Given the description of an element on the screen output the (x, y) to click on. 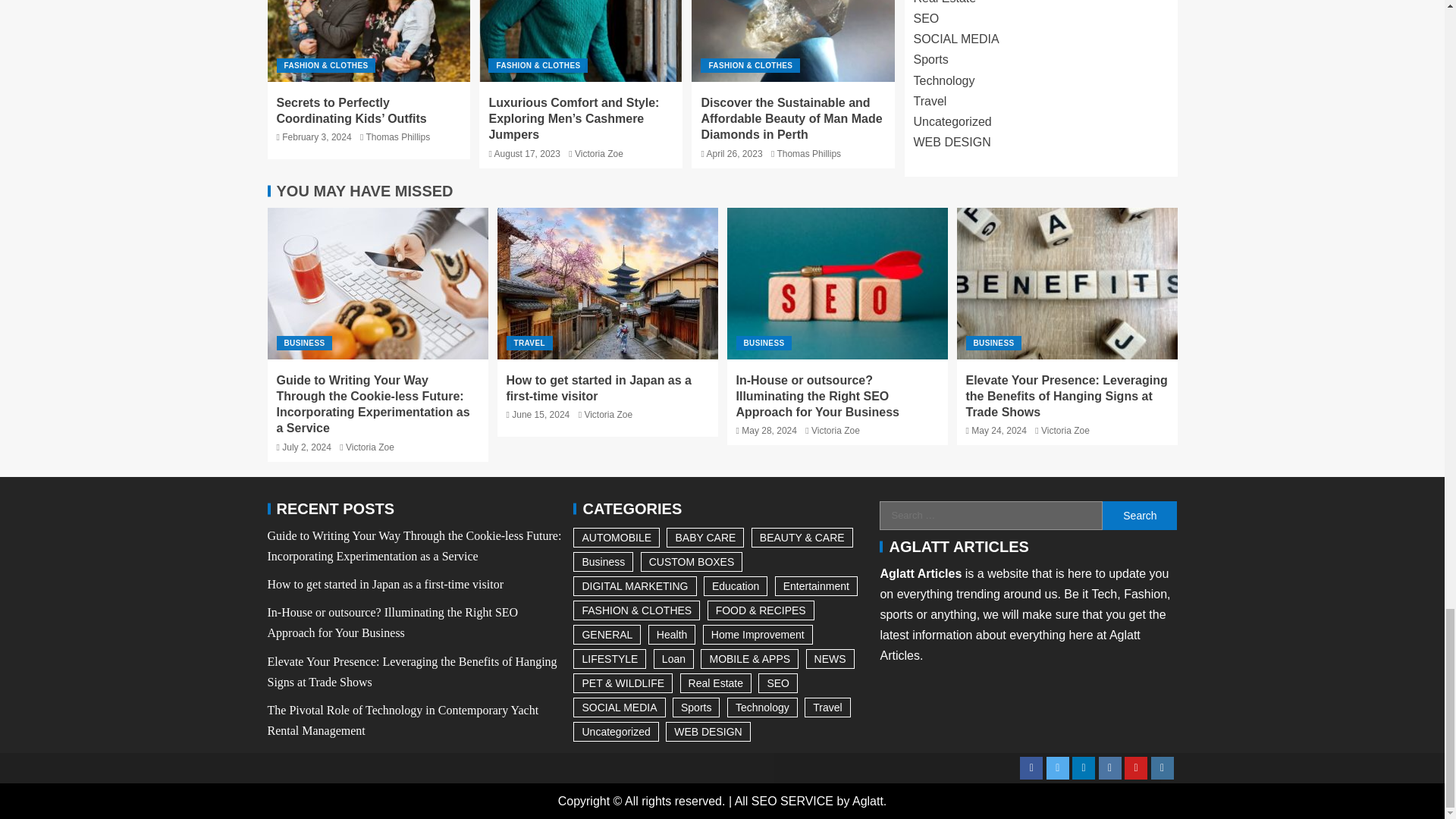
Search (1139, 515)
Search (1139, 515)
